Given the description of an element on the screen output the (x, y) to click on. 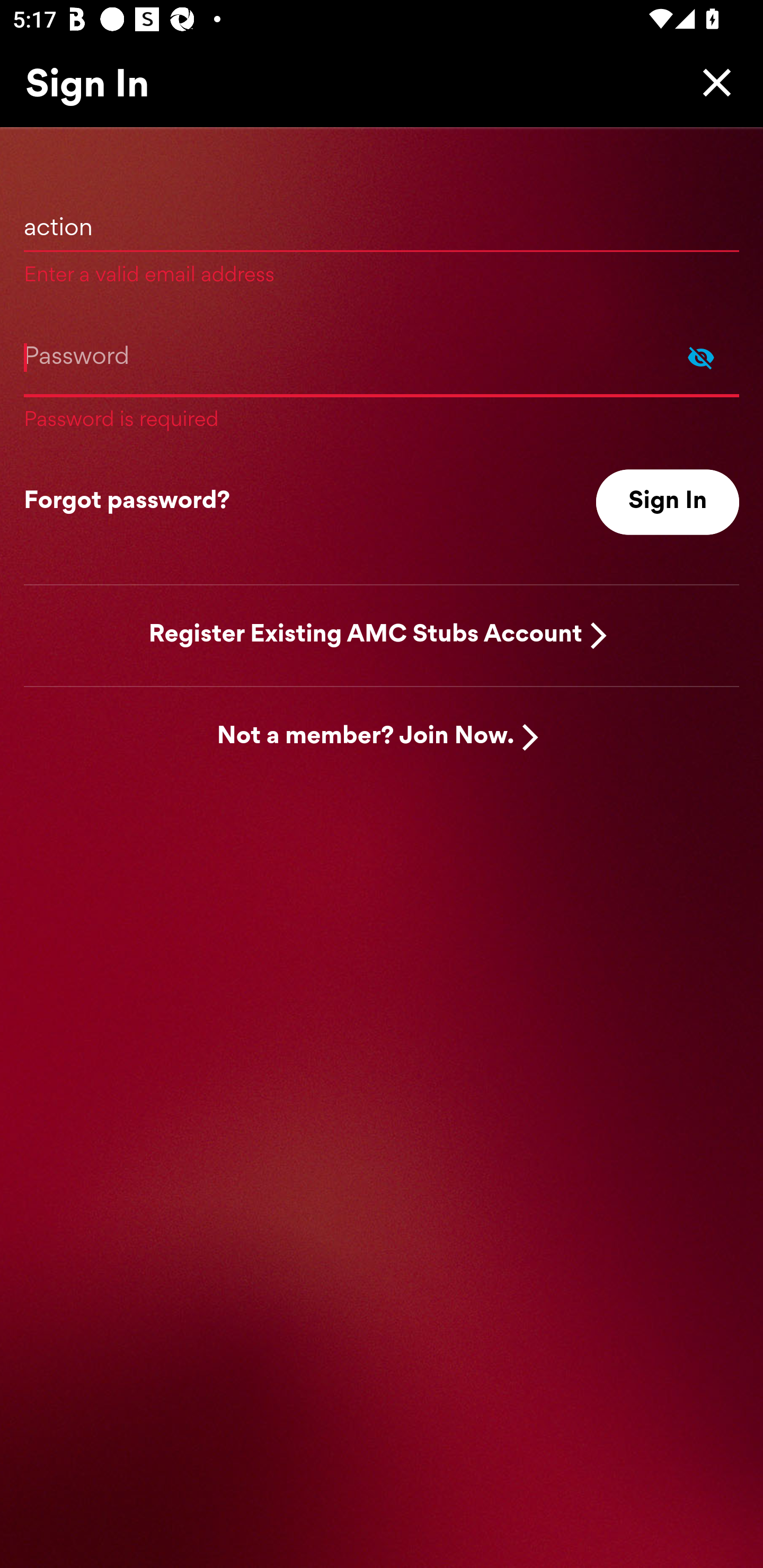
Close (712, 82)
action Enter a valid email address (381, 238)
Hide Password Password is required (381, 375)
Hide Password (701, 357)
Forgot password? (126, 502)
Sign In (667, 502)
Register Existing AMC Stubs Account (365, 635)
Not a member? Join Now. (365, 737)
